Given the description of an element on the screen output the (x, y) to click on. 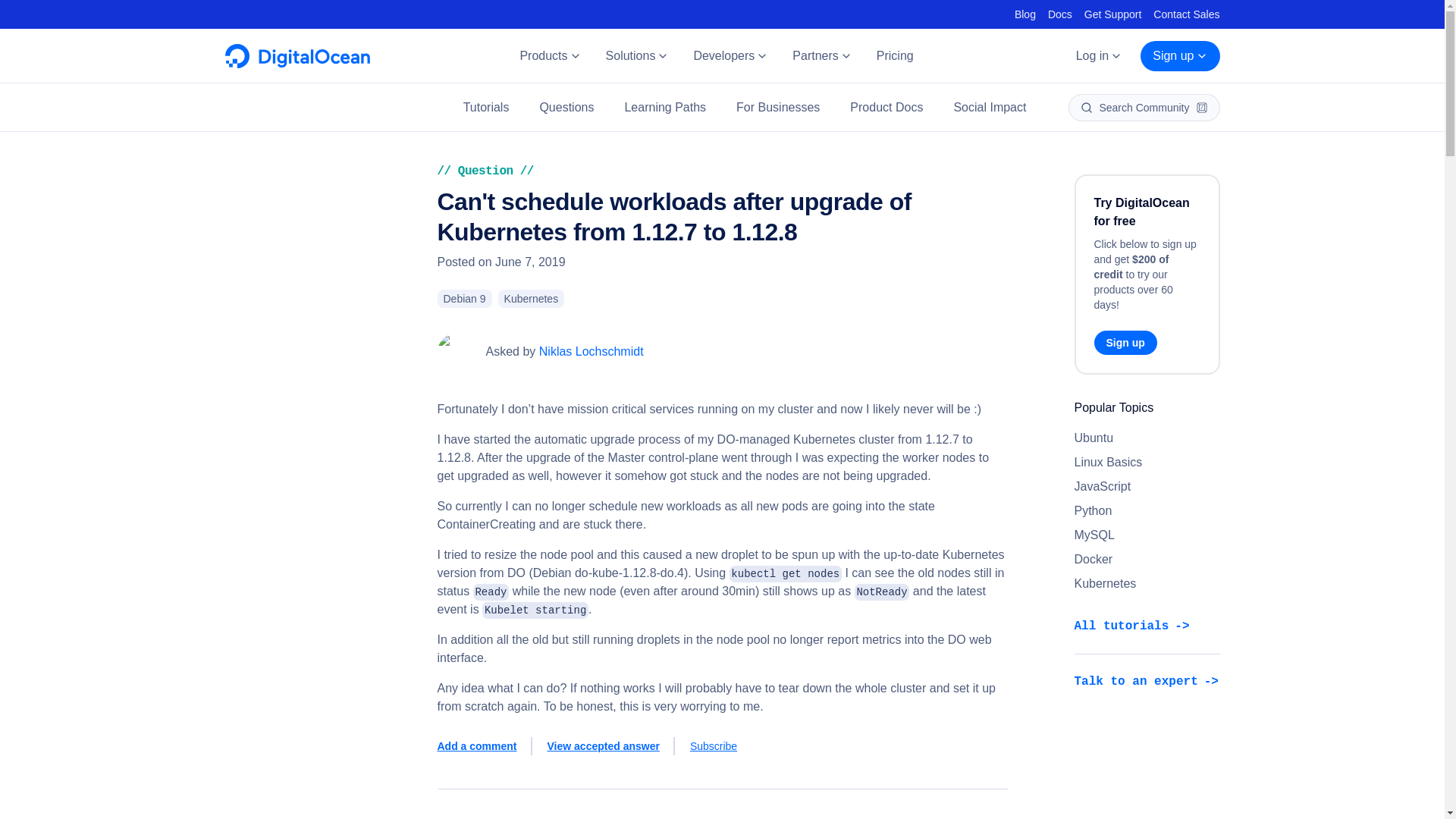
Debian 9 (464, 298)
Contact Sales (1186, 14)
Kubernetes (530, 298)
View accepted answer (611, 746)
DigitalOcean (296, 63)
Get Support (1112, 14)
Products (549, 55)
Docs (1059, 14)
Blog (1024, 14)
